Given the description of an element on the screen output the (x, y) to click on. 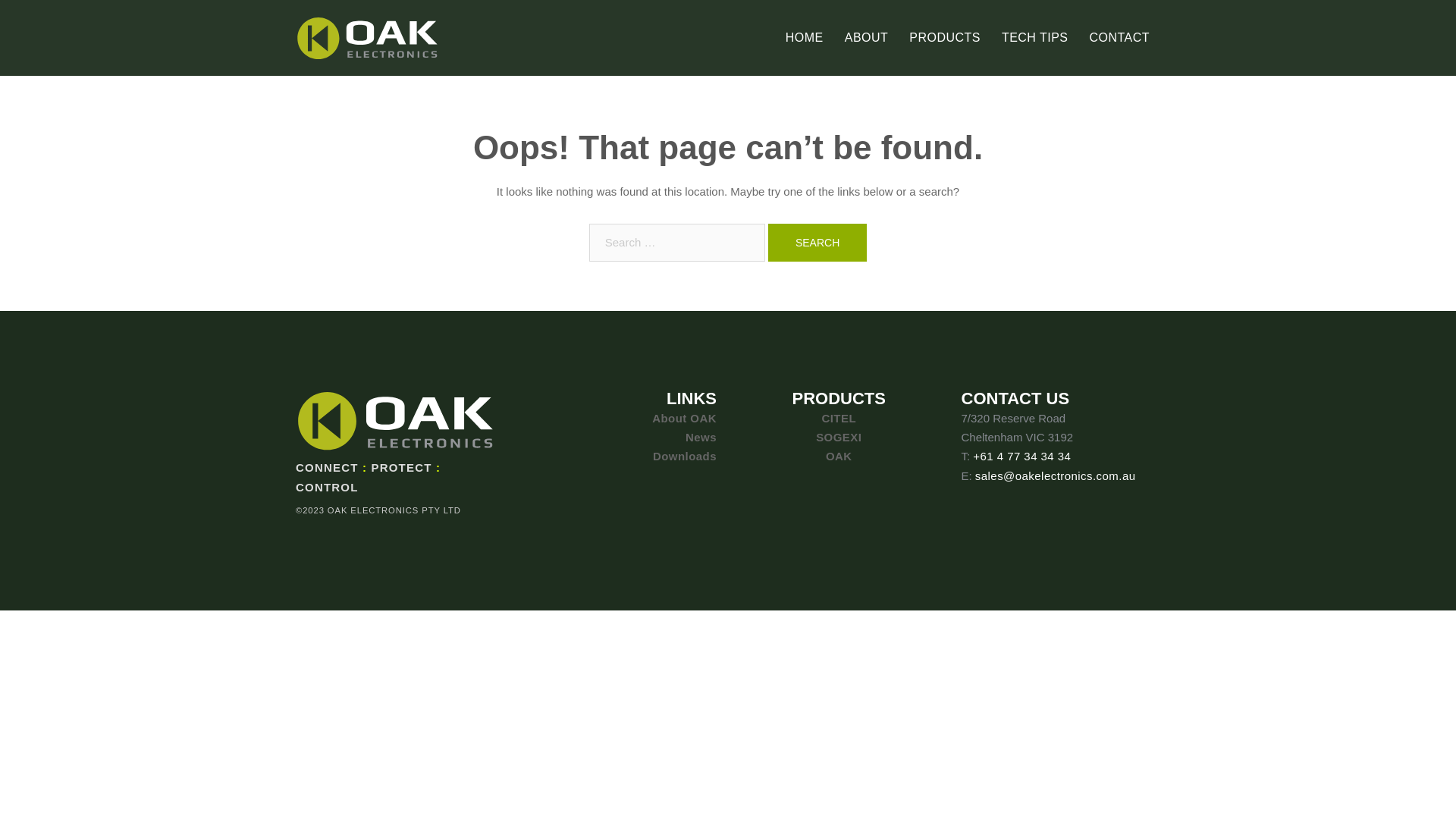
sales@oakelectronics.com.au Element type: text (1055, 475)
HOME Element type: text (804, 38)
CONTACT Element type: text (1118, 38)
ABOUT Element type: text (866, 38)
TECH TIPS Element type: text (1034, 38)
Search Element type: text (817, 242)
+61 4 77 34 34 34 Element type: text (1021, 455)
SOGEXI Element type: text (838, 436)
CITEL Element type: text (838, 417)
About OAK Element type: text (684, 417)
Oak Electronics Element type: hover (367, 36)
PRODUCTS Element type: text (944, 38)
News Element type: text (700, 436)
OAK Element type: text (838, 455)
Downloads Element type: text (684, 455)
